Given the description of an element on the screen output the (x, y) to click on. 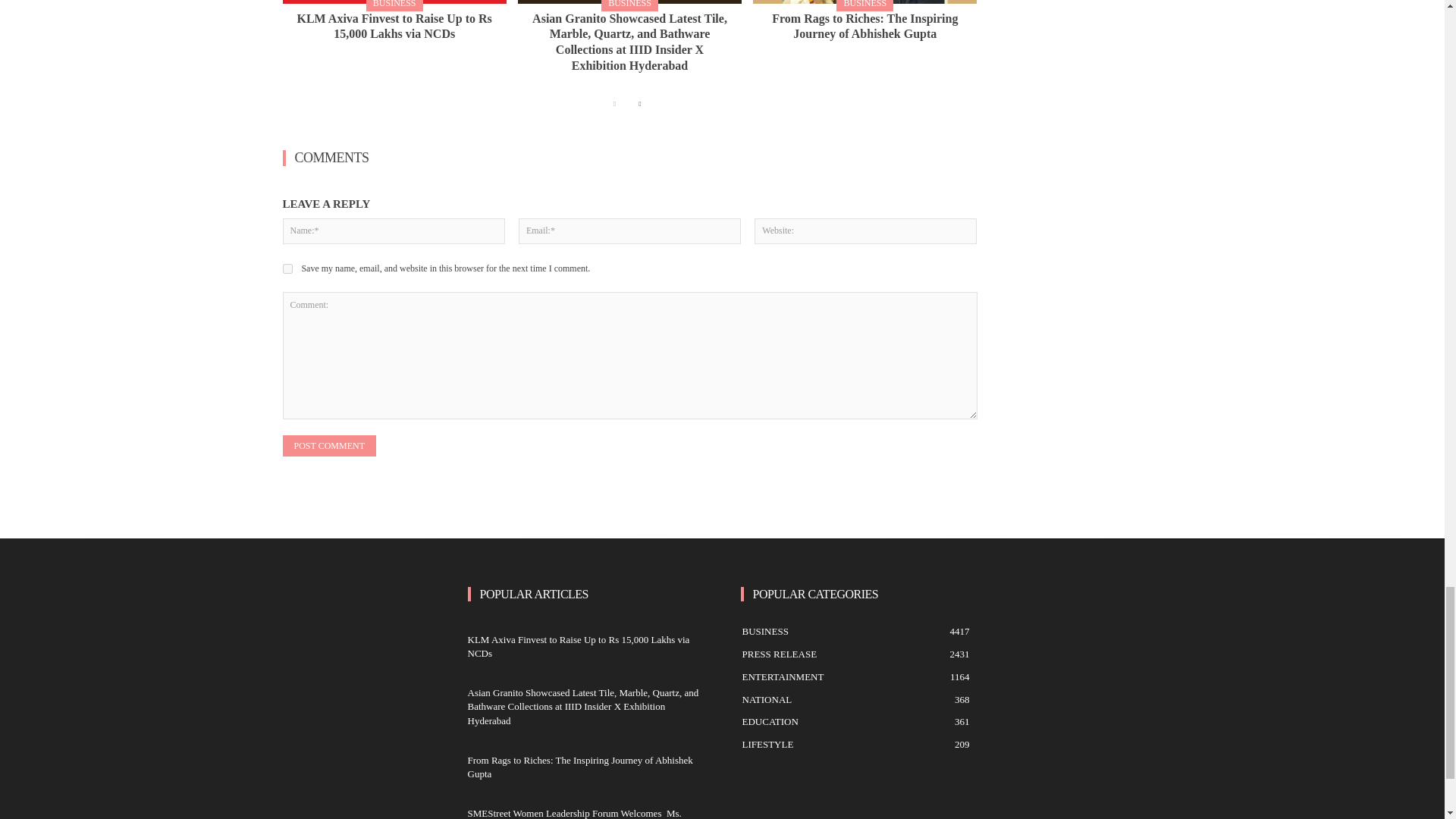
yes (287, 268)
Post Comment (328, 445)
